Given the description of an element on the screen output the (x, y) to click on. 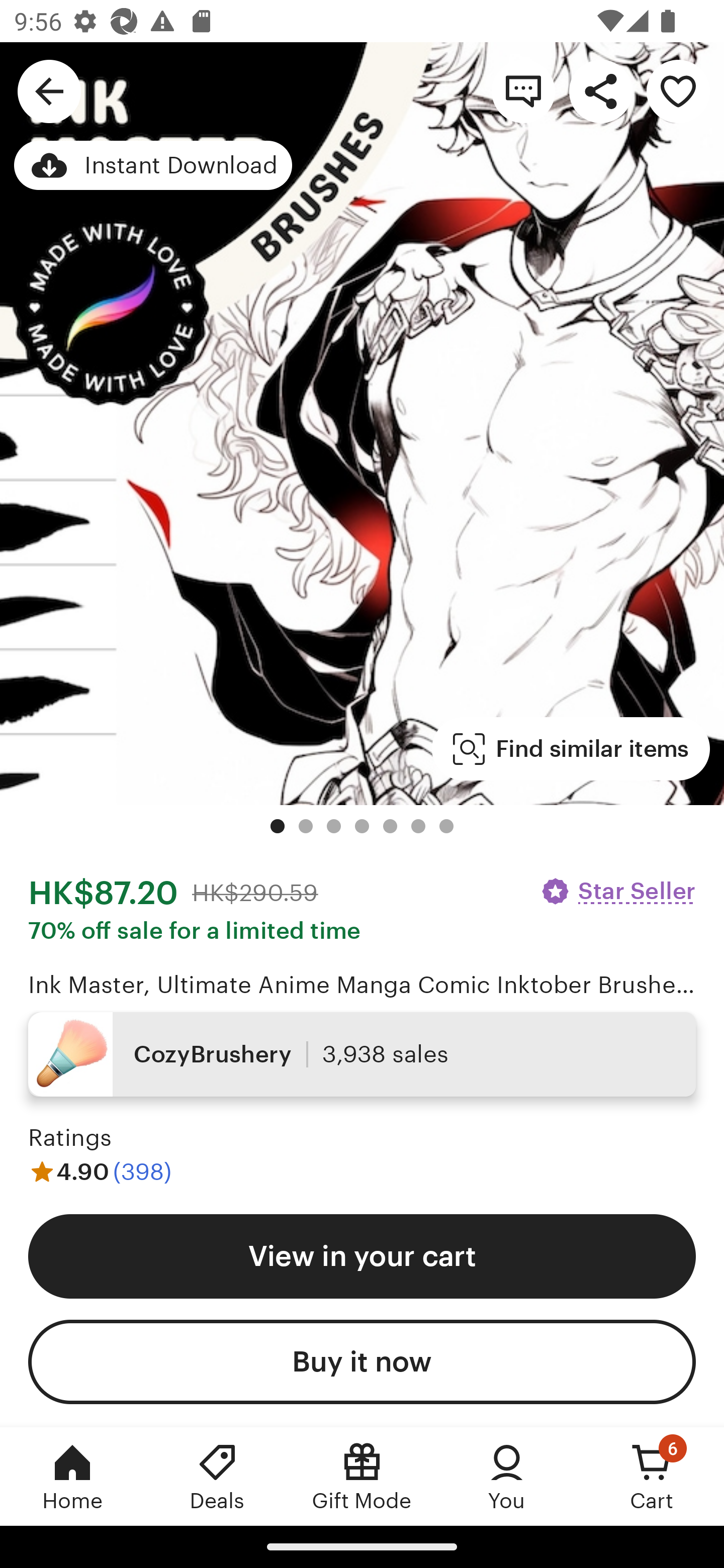
Navigate up (49, 90)
Contact shop (523, 90)
Share (600, 90)
Find similar items (571, 748)
Star Seller (617, 890)
CozyBrushery 3,938 sales (361, 1054)
Ratings (70, 1137)
4.90 (398) (100, 1171)
View in your cart (361, 1255)
Buy it now (361, 1362)
Deals (216, 1475)
Gift Mode (361, 1475)
You (506, 1475)
Cart, 6 new notifications Cart (651, 1475)
